Given the description of an element on the screen output the (x, y) to click on. 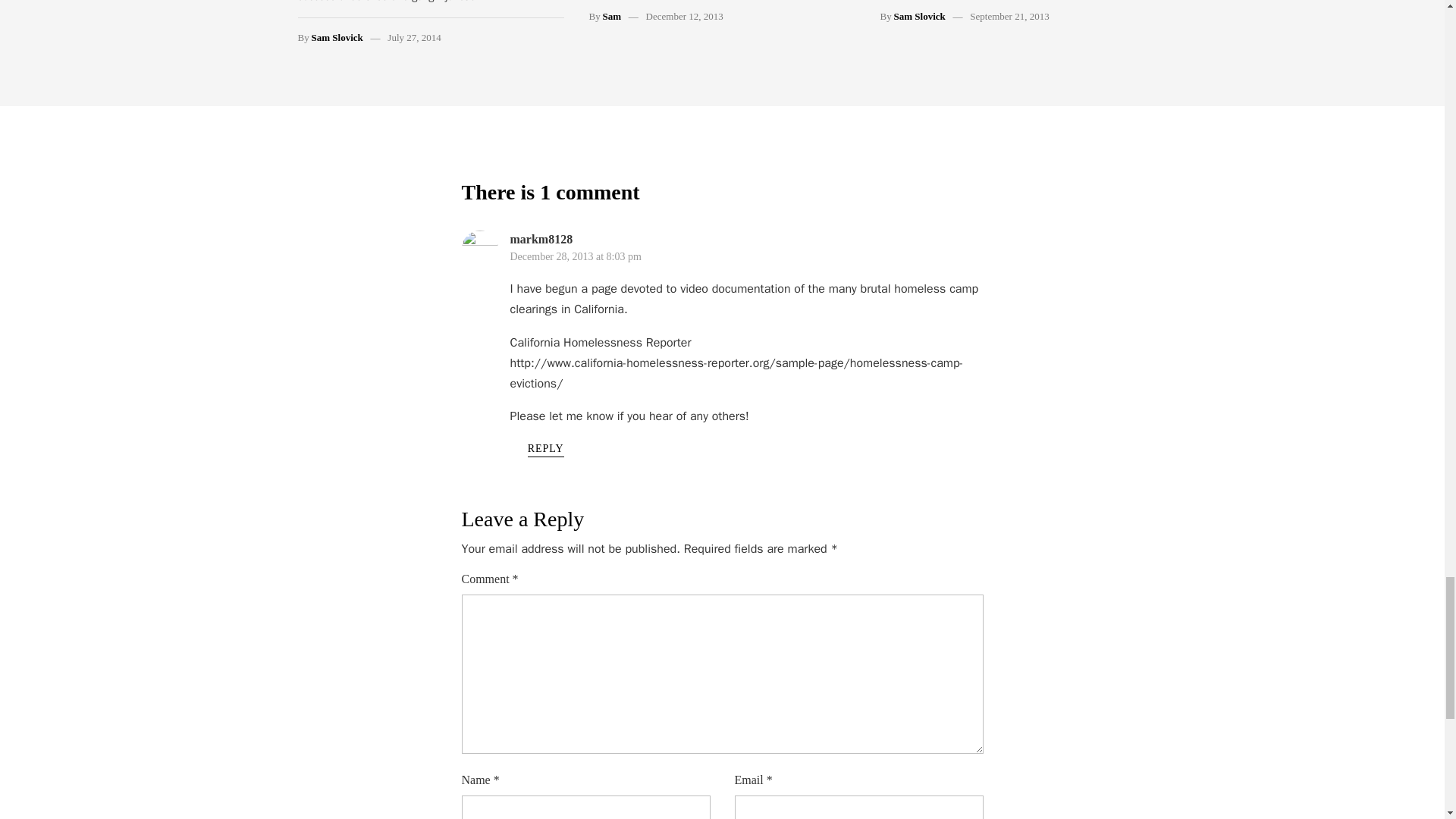
July 27, 2014 (414, 37)
December 12, 2013 (684, 16)
Posts by Sam (611, 16)
Posts by Sam Slovick (336, 37)
